Given the description of an element on the screen output the (x, y) to click on. 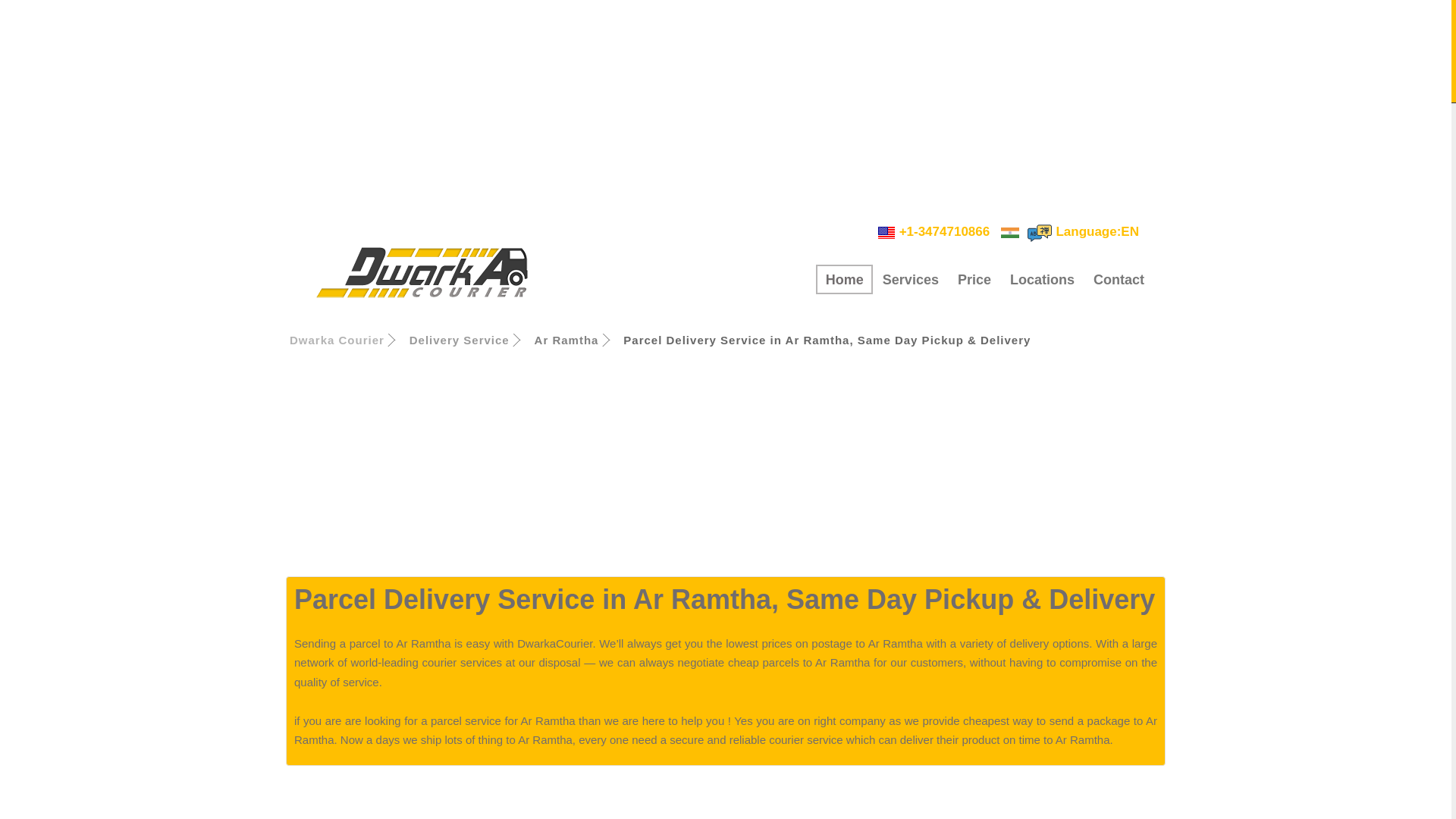
Services (909, 279)
USA (886, 232)
Dwarka Courier (336, 339)
India (1039, 232)
Advertisement (725, 796)
India (1010, 232)
Dwarka Courier (418, 274)
Contact (1118, 279)
Delivery Service (459, 339)
Price (973, 279)
Ar Ramtha (566, 339)
Locations (1041, 279)
Home (843, 279)
Language:EN (1082, 231)
